Given the description of an element on the screen output the (x, y) to click on. 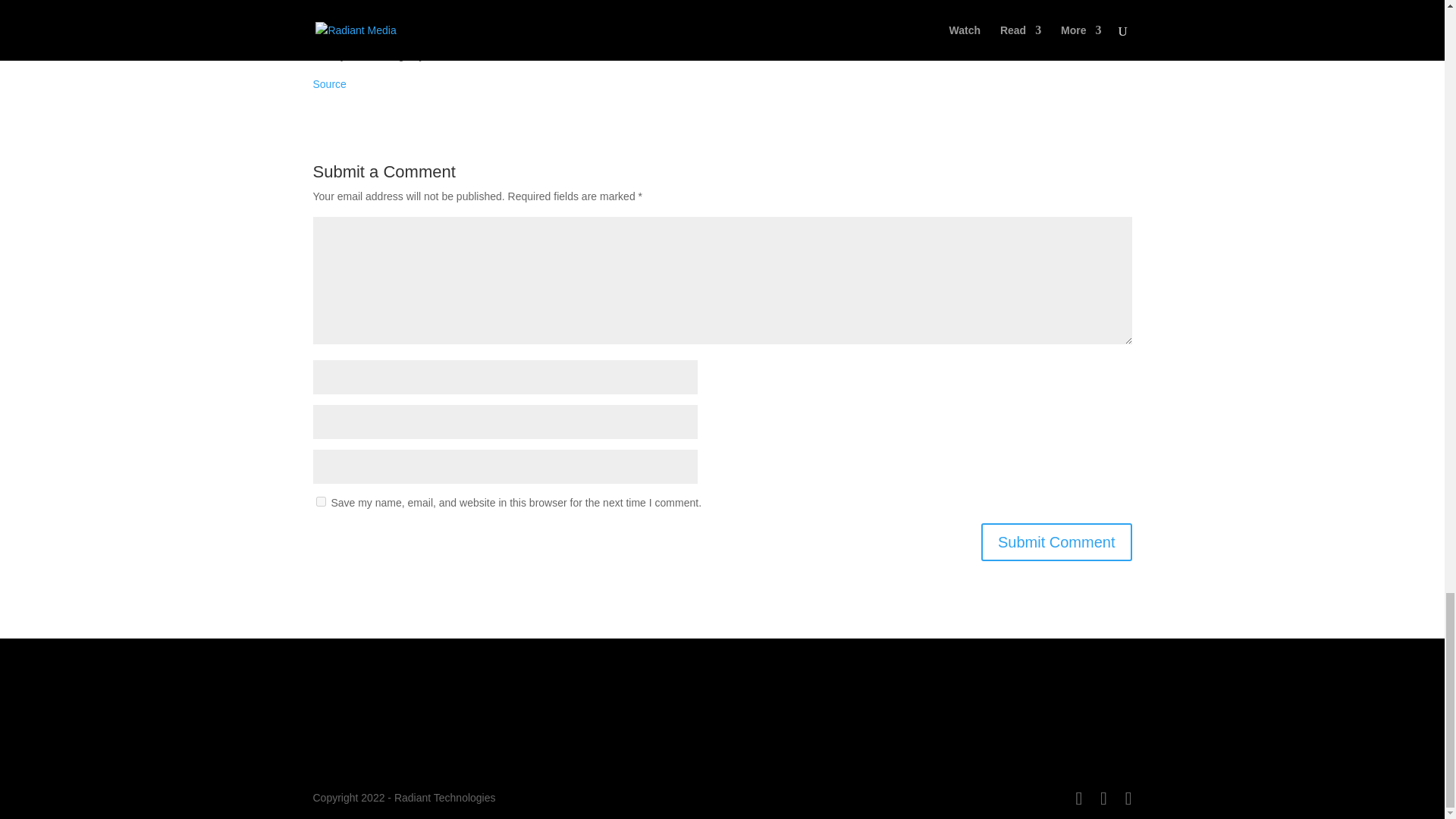
yes (319, 501)
Submit Comment (1056, 542)
Source (329, 83)
Submit Comment (1056, 542)
